Given the description of an element on the screen output the (x, y) to click on. 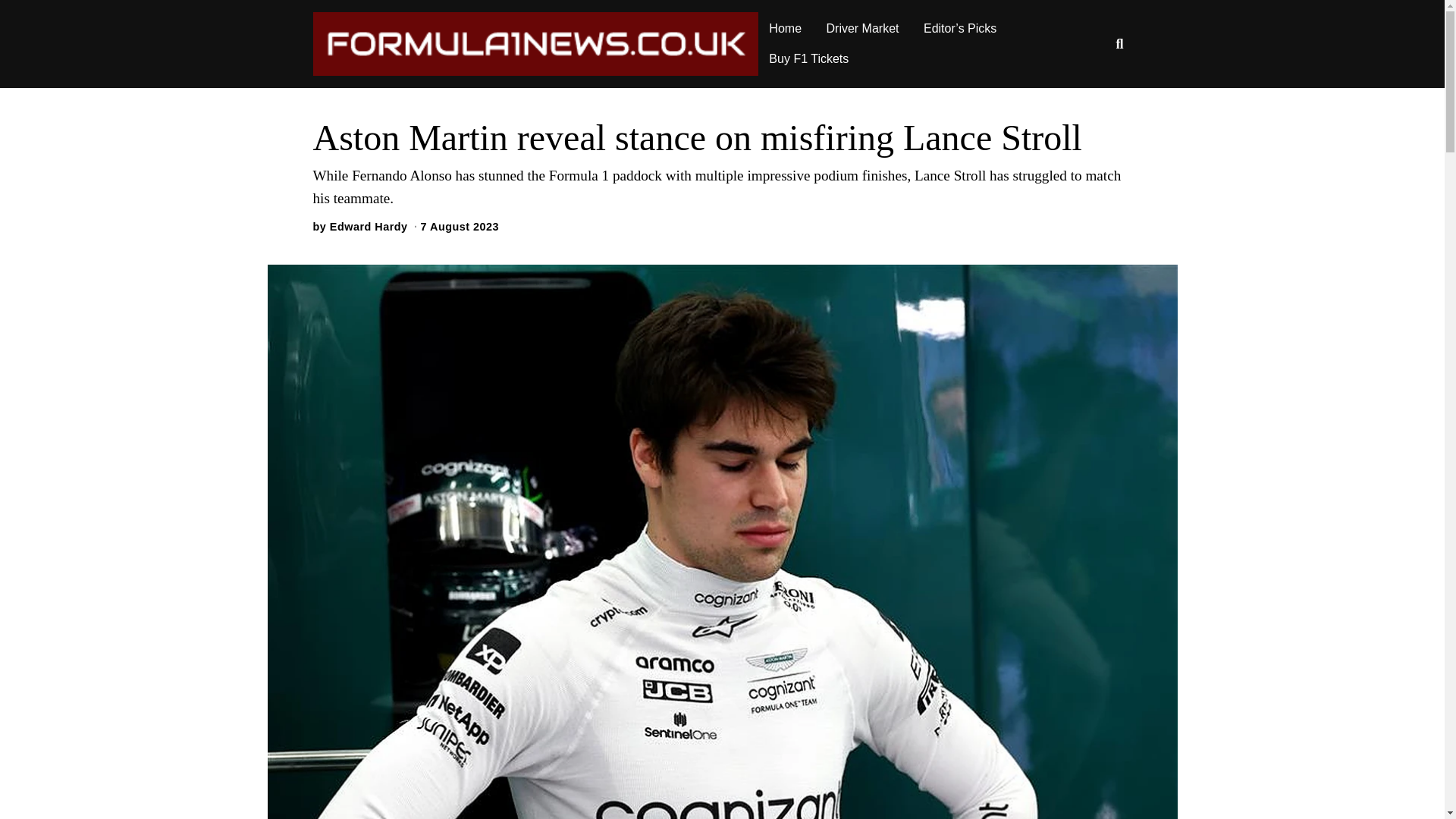
Home (785, 28)
Buy F1 Tickets (808, 59)
Edward Hardy (368, 226)
Driver Market (862, 28)
